Given the description of an element on the screen output the (x, y) to click on. 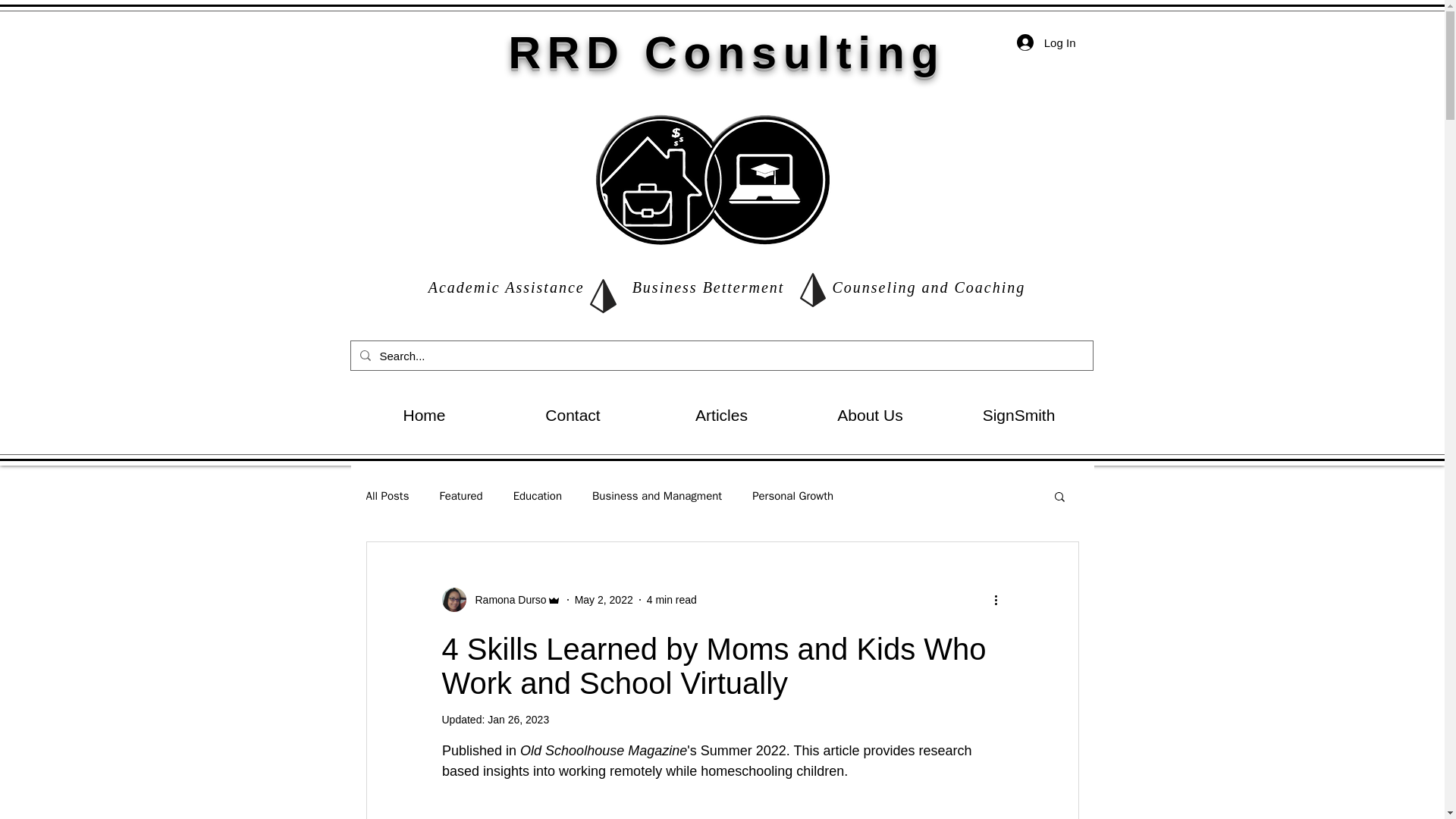
Articles (721, 415)
Business and Managment (657, 495)
4 min read (671, 598)
Jan 26, 2023 (517, 719)
Contact (573, 415)
Home (424, 415)
Featured (460, 495)
All Posts (387, 495)
Log In (1046, 42)
SignSmith (1018, 415)
